Given the description of an element on the screen output the (x, y) to click on. 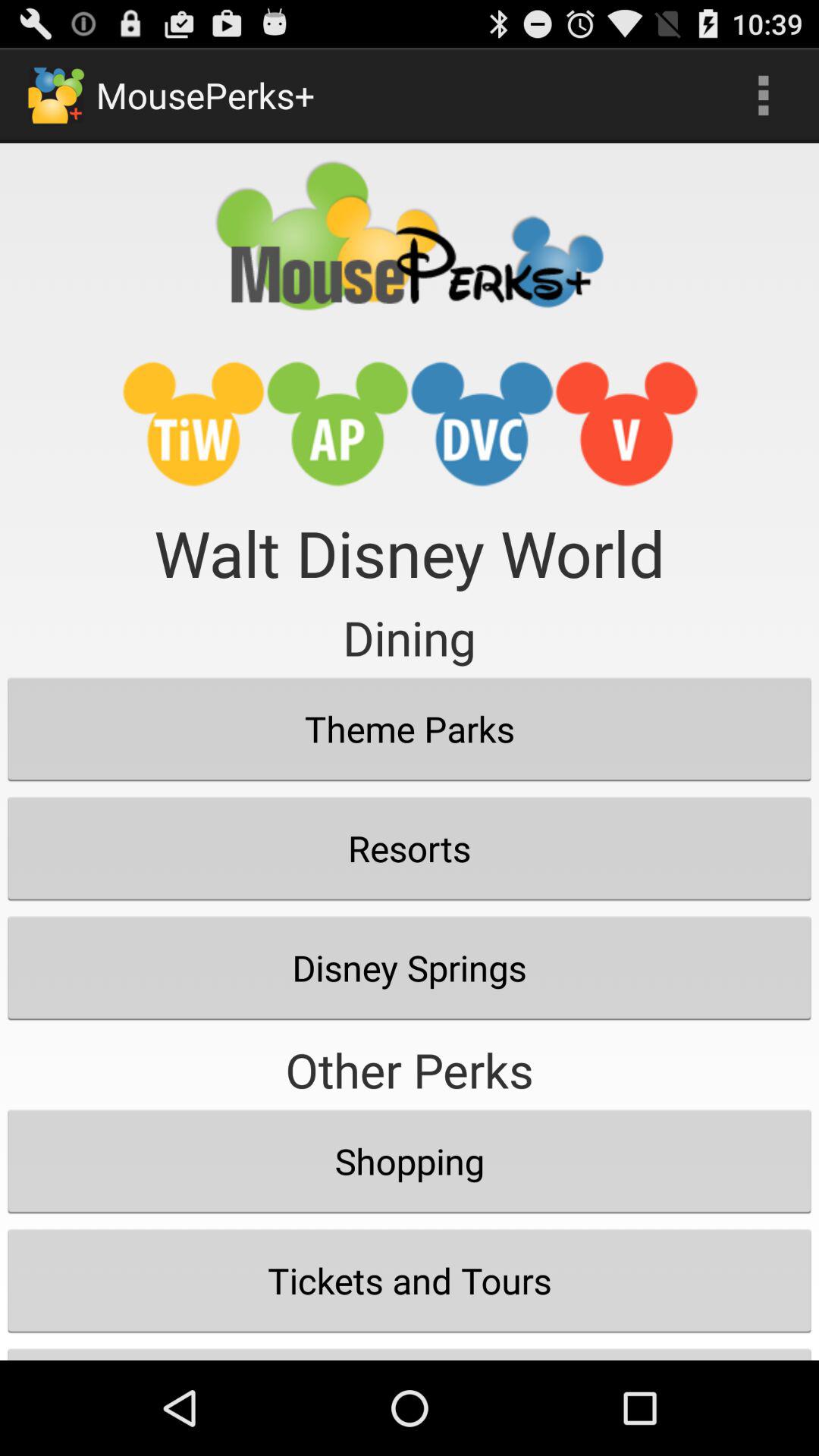
flip to tickets and tours item (409, 1280)
